Given the description of an element on the screen output the (x, y) to click on. 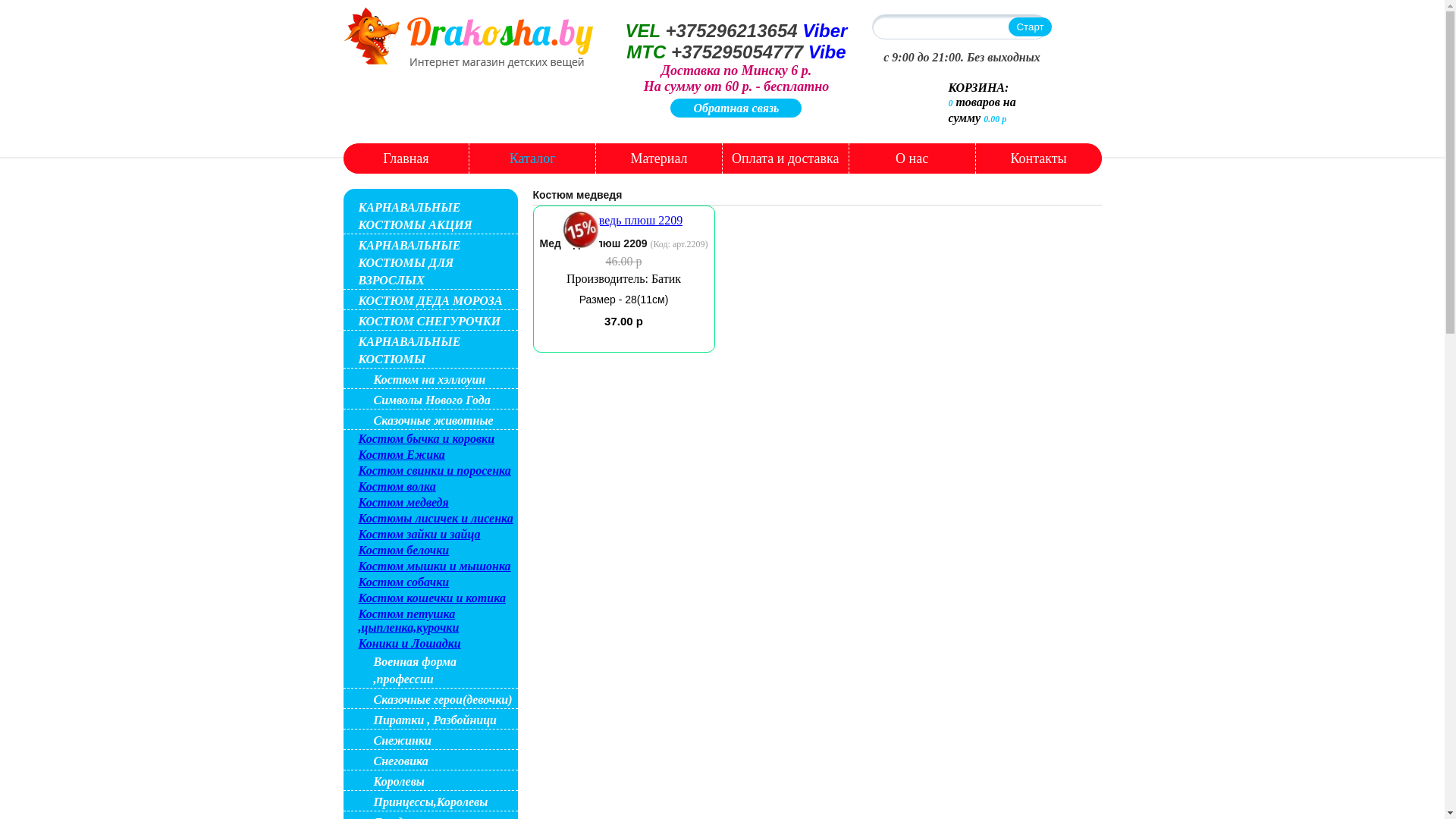
+375295054777 Element type: text (739, 51)
+375296213654 Element type: text (731, 30)
